Given the description of an element on the screen output the (x, y) to click on. 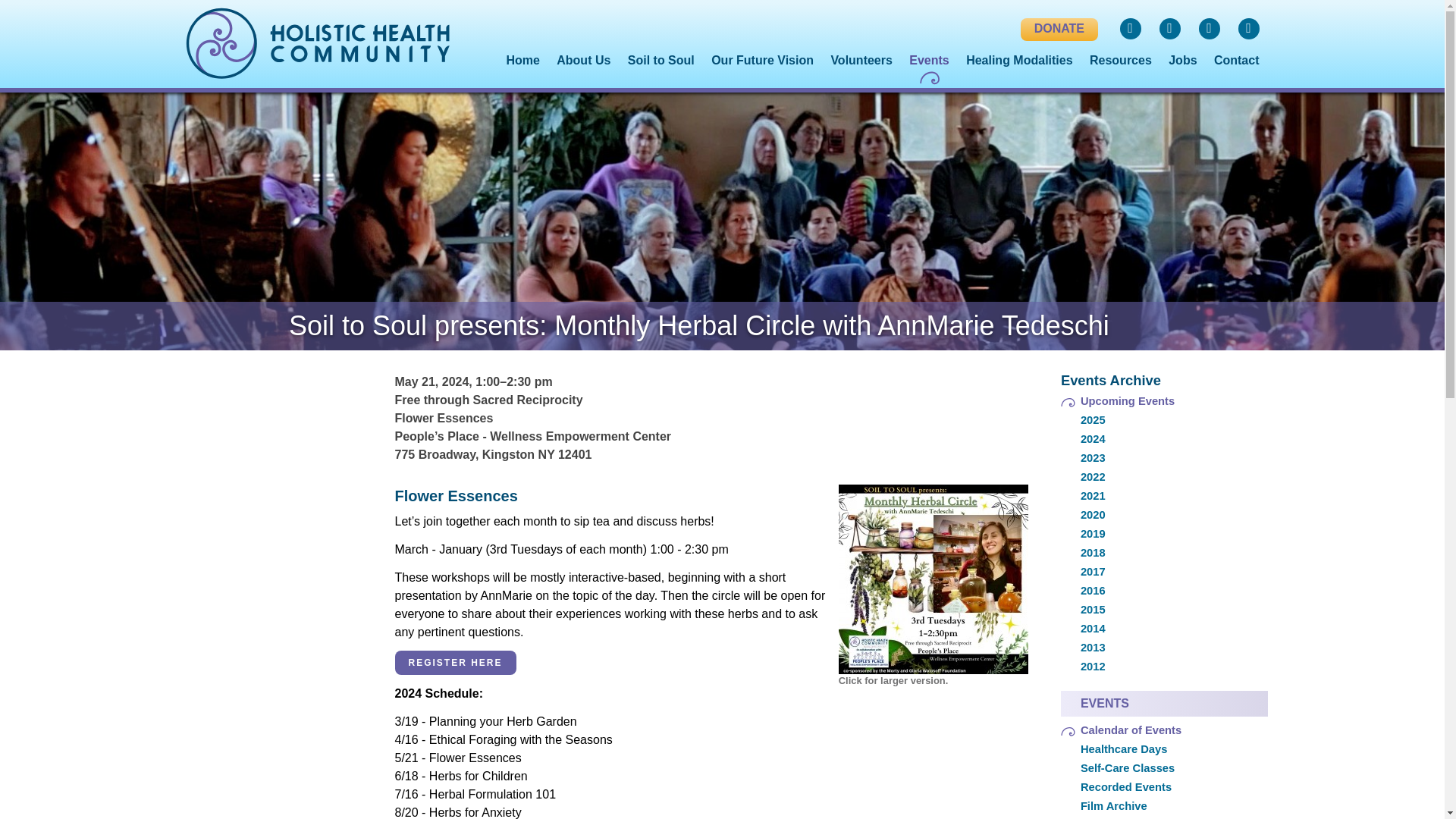
Soil to Soul (660, 60)
Our Future Vision (762, 60)
DONATE (1058, 29)
Home (521, 60)
Events (928, 60)
Volunteers (860, 60)
About Us (583, 60)
